Given the description of an element on the screen output the (x, y) to click on. 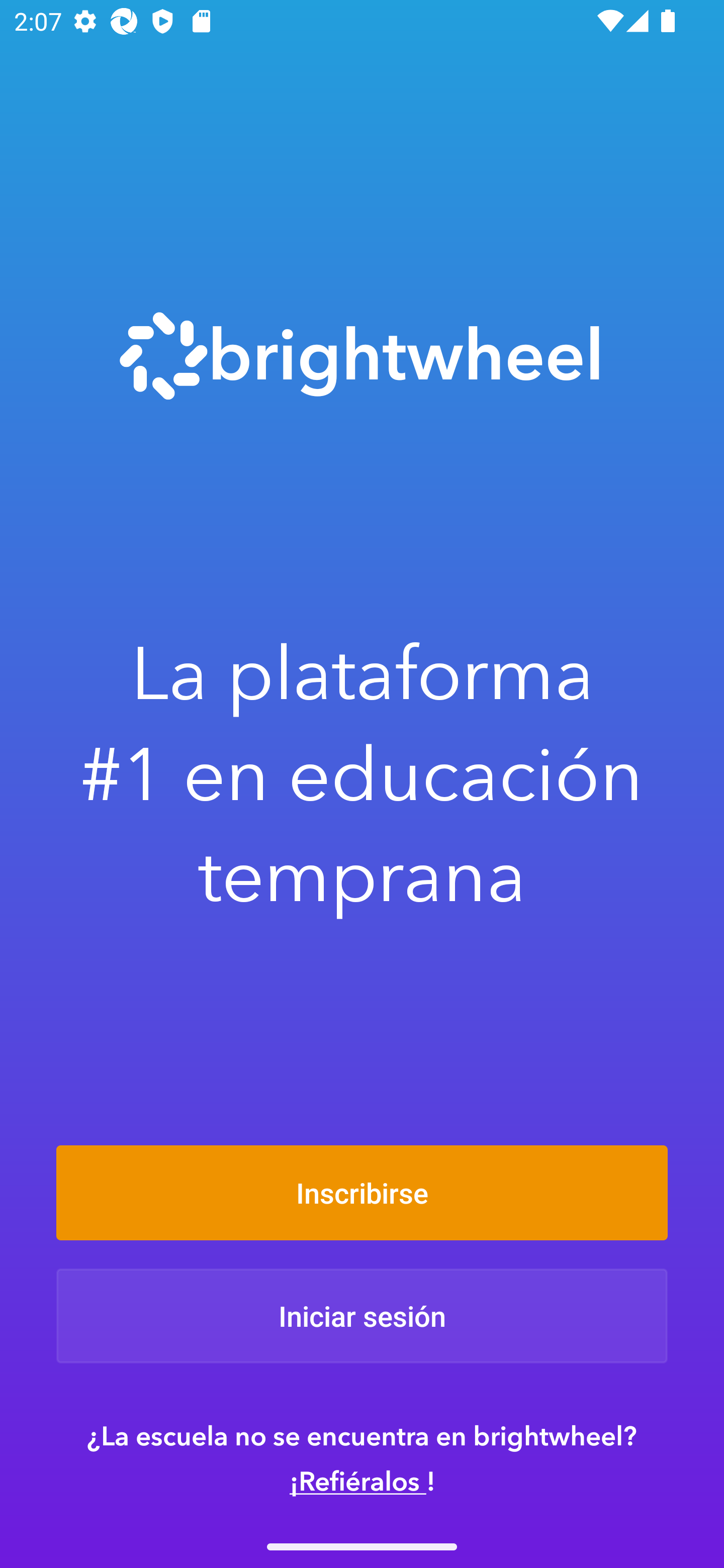
Inscribirse (361, 1192)
Iniciar sesión (361, 1316)
